Given the description of an element on the screen output the (x, y) to click on. 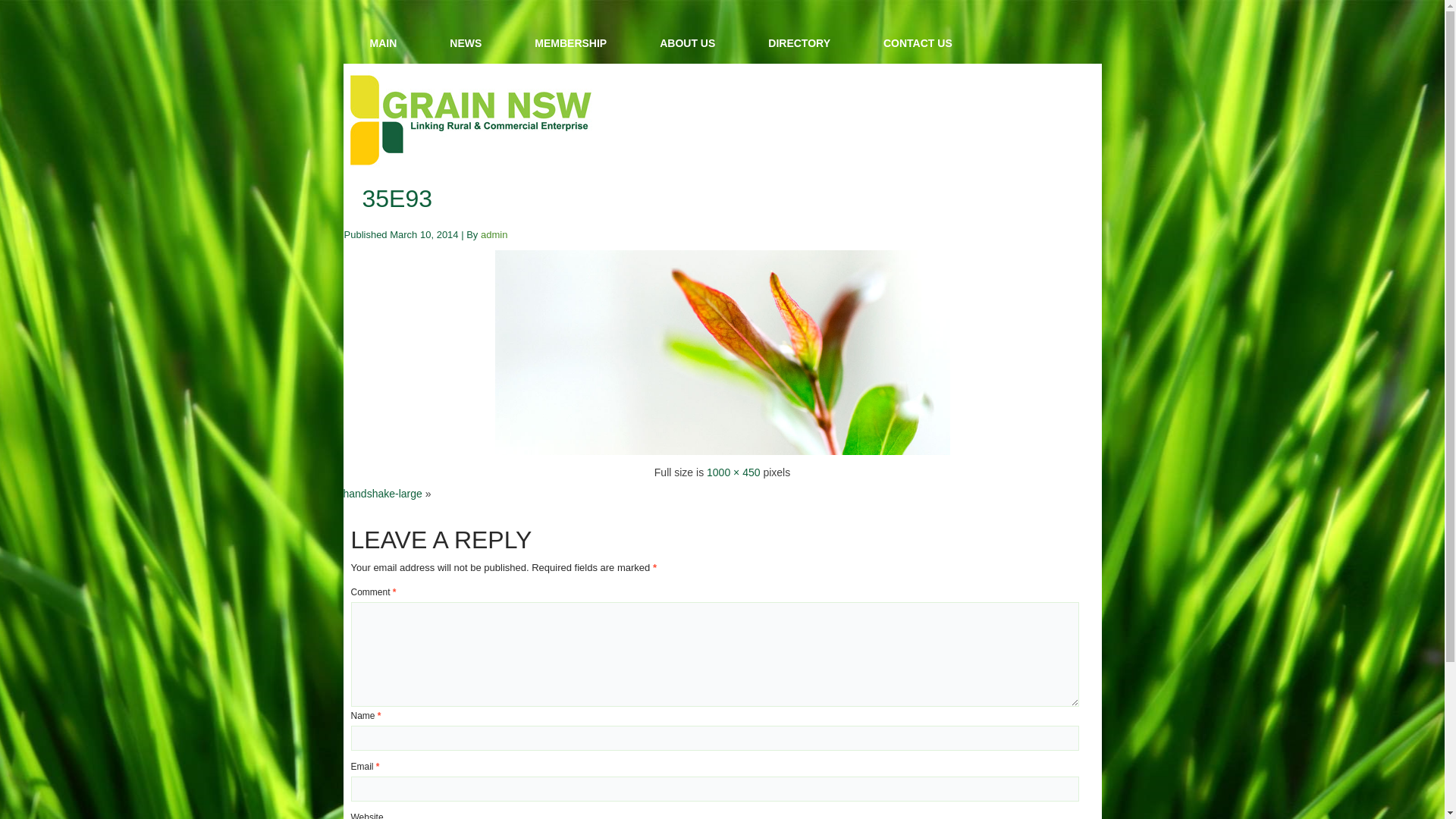
CONTACT US Element type: text (917, 42)
MEMBERSHIP Element type: text (570, 42)
admin Element type: text (493, 234)
DIRECTORY Element type: text (798, 42)
MAIN Element type: text (382, 42)
ABOUT US Element type: text (687, 42)
handshake-large Element type: text (381, 493)
NEWS Element type: text (465, 42)
35e93 Element type: hover (721, 451)
35E93 Element type: text (397, 198)
